Given the description of an element on the screen output the (x, y) to click on. 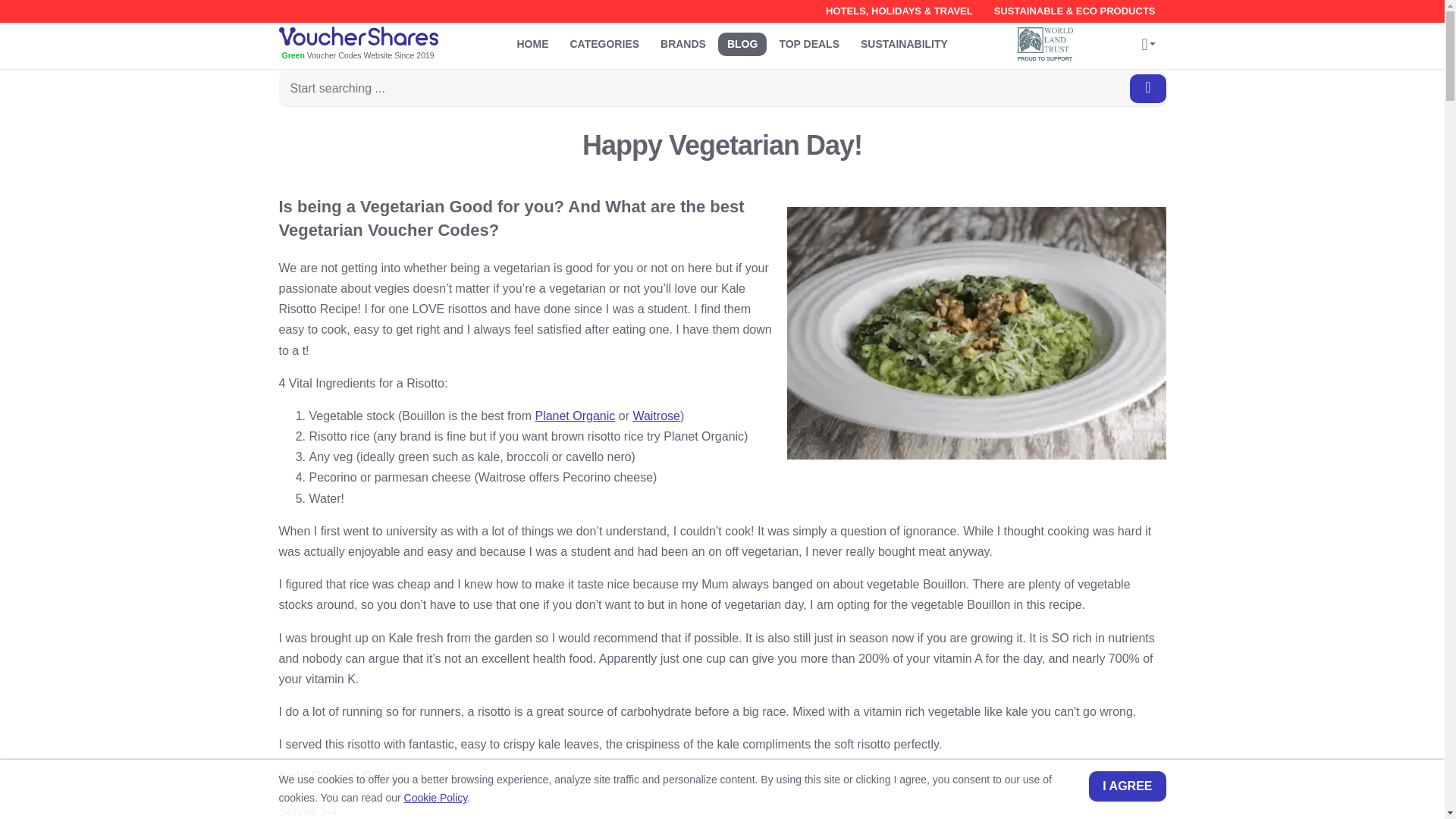
CATEGORIES (604, 44)
vouchershares.co.uk (381, 44)
Green Voucher Codes Website Since 2019 (381, 44)
BRANDS (682, 44)
World Land Trust (1048, 44)
Blog (742, 44)
Top Deals (809, 44)
Happy Vegetarian Day! (976, 333)
Brands (682, 44)
HOME (532, 44)
